Given the description of an element on the screen output the (x, y) to click on. 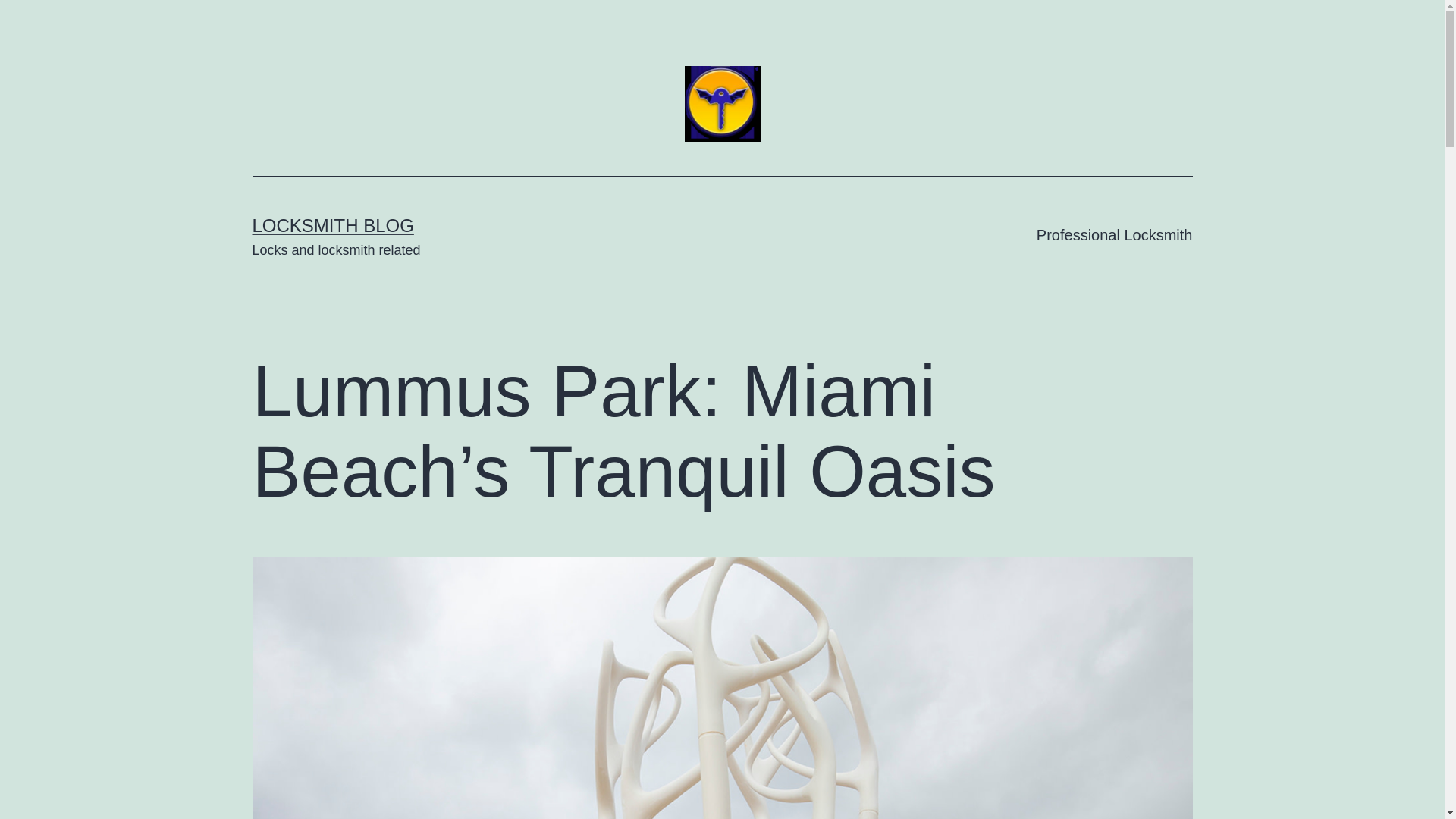
Professional Locksmith (1114, 235)
LOCKSMITH BLOG (332, 225)
